Given the description of an element on the screen output the (x, y) to click on. 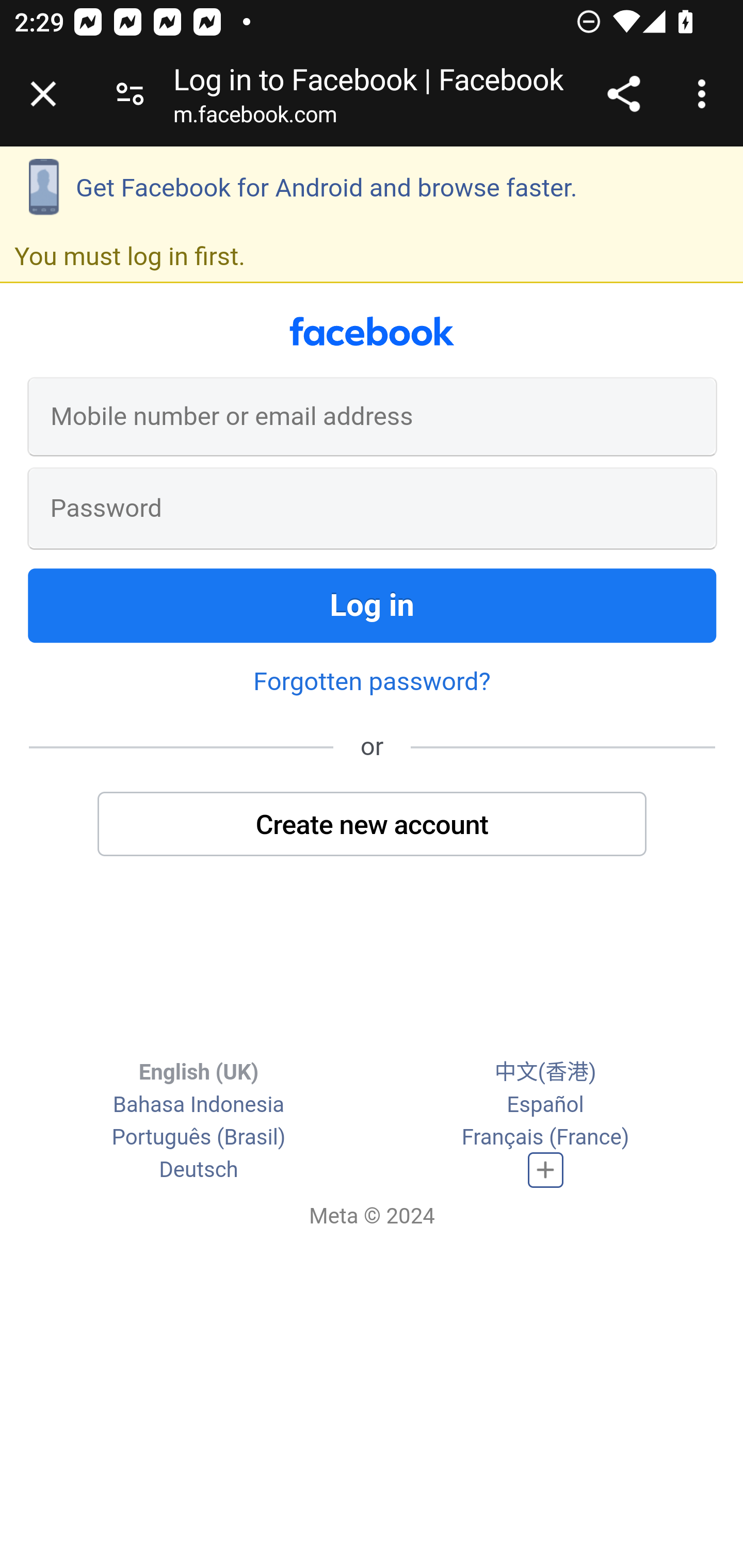
Close tab (43, 93)
Share link address (623, 93)
Customize and control Google Chrome (705, 93)
Connection is secure (129, 93)
m.facebook.com (254, 117)
Get Facebook for Android and browse faster. (371, 188)
facebook (372, 331)
Log in (372, 604)
Forgotten password? (371, 681)
Create new account (372, 823)
中文(香港) (544, 1072)
Bahasa Indonesia (198, 1104)
Español (545, 1104)
Português (Brasil) (197, 1137)
Français (France) (544, 1137)
Complete list of languages (545, 1170)
Deutsch (198, 1169)
